Given the description of an element on the screen output the (x, y) to click on. 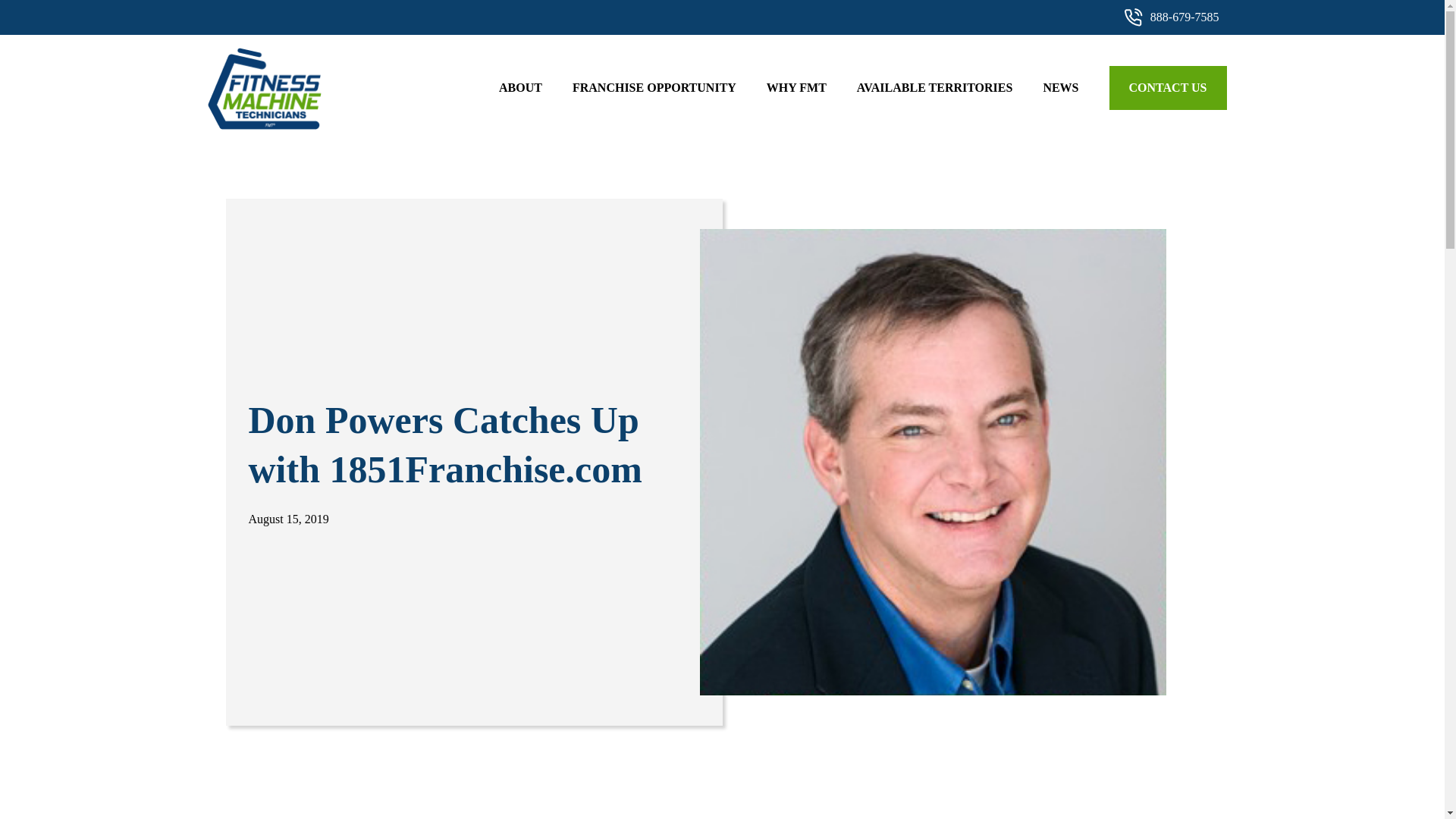
CONTACT US (1168, 87)
FRANCHISE OPPORTUNITY (654, 87)
NEWS (1060, 87)
WHY FMT (797, 87)
ABOUT (520, 87)
888-679-7585 (1172, 17)
AVAILABLE TERRITORIES (935, 87)
